Given the description of an element on the screen output the (x, y) to click on. 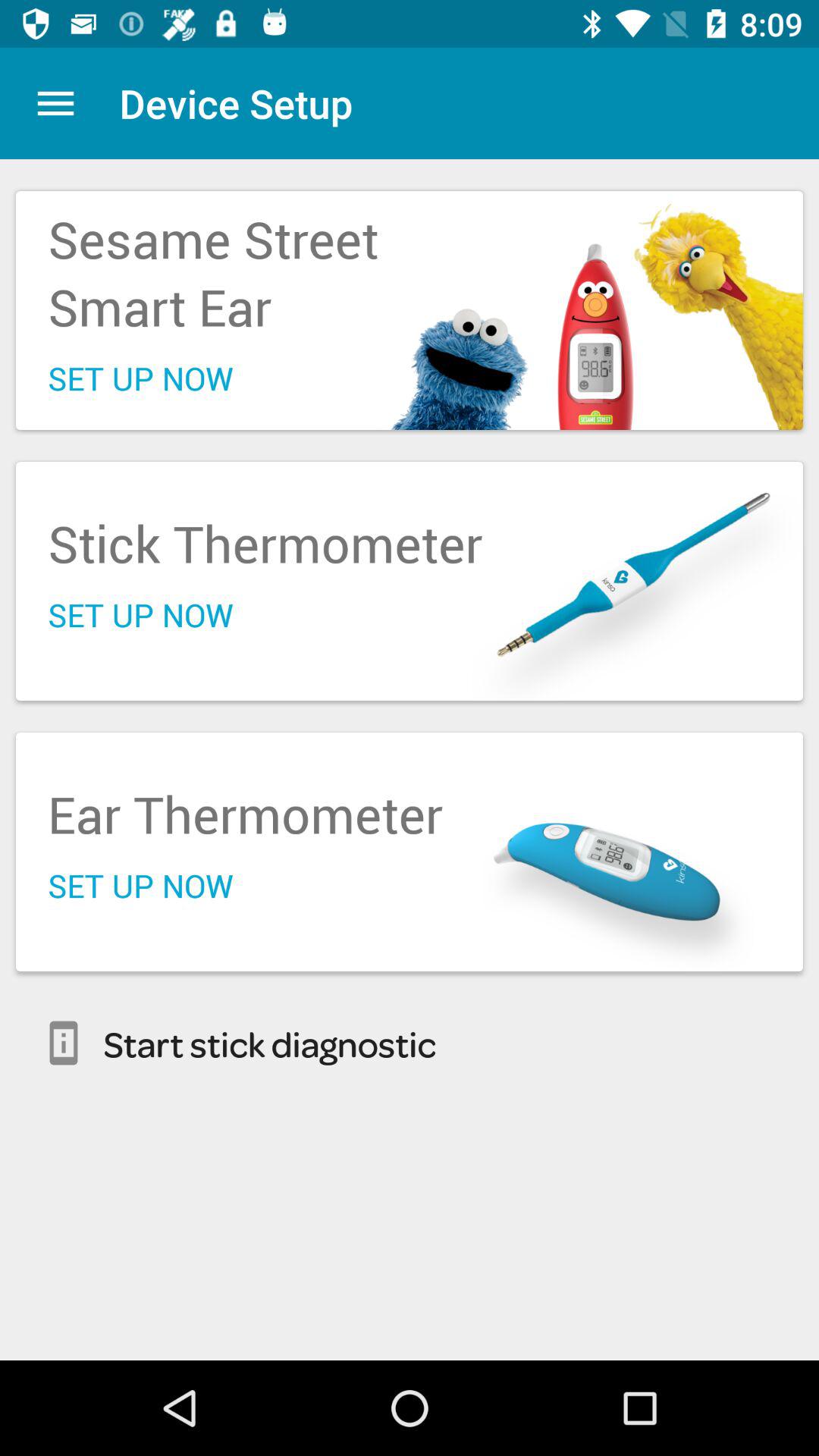
swipe to the start stick diagnostic item (409, 1042)
